Given the description of an element on the screen output the (x, y) to click on. 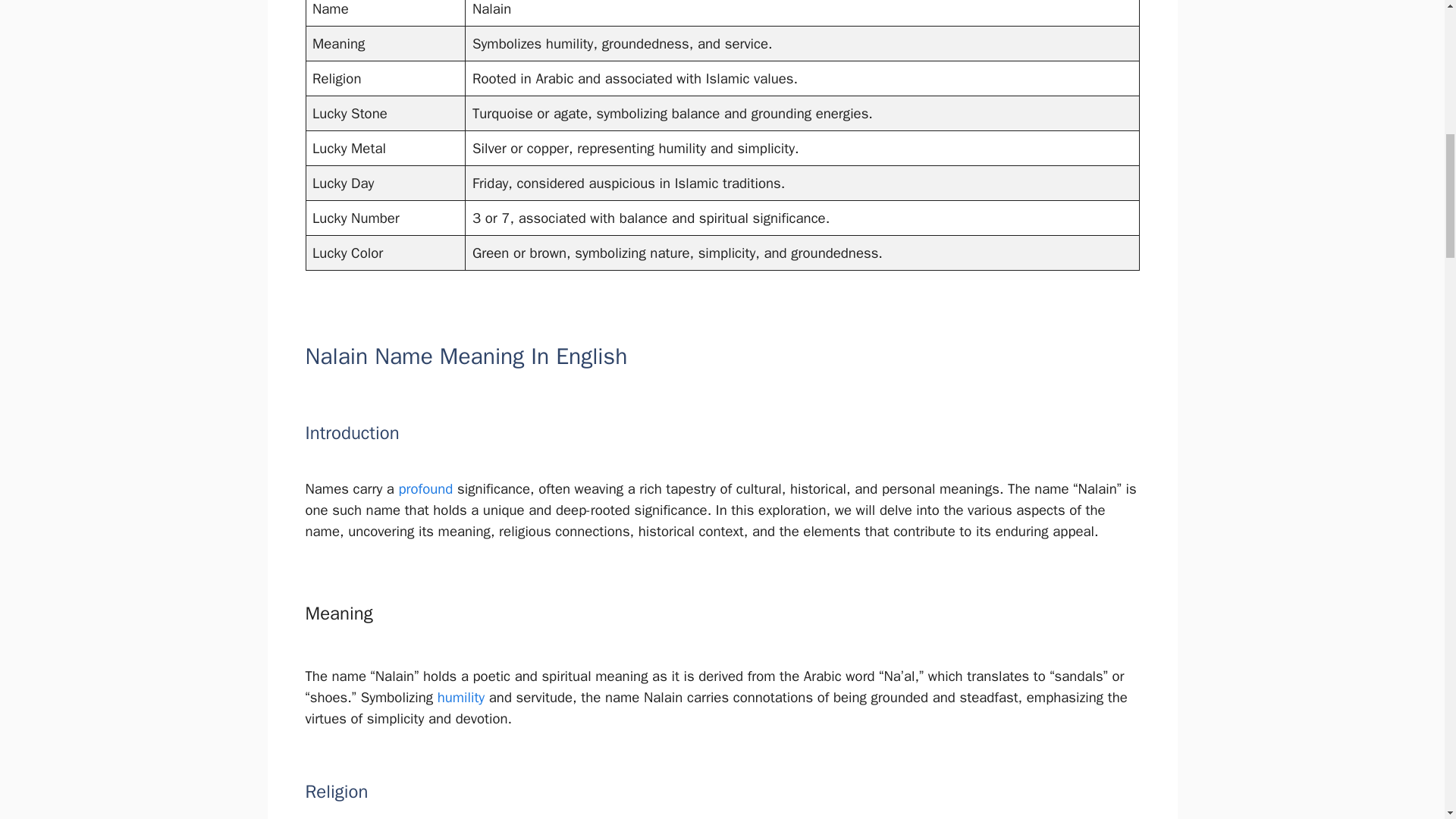
profound (424, 488)
humility (461, 697)
